Given the description of an element on the screen output the (x, y) to click on. 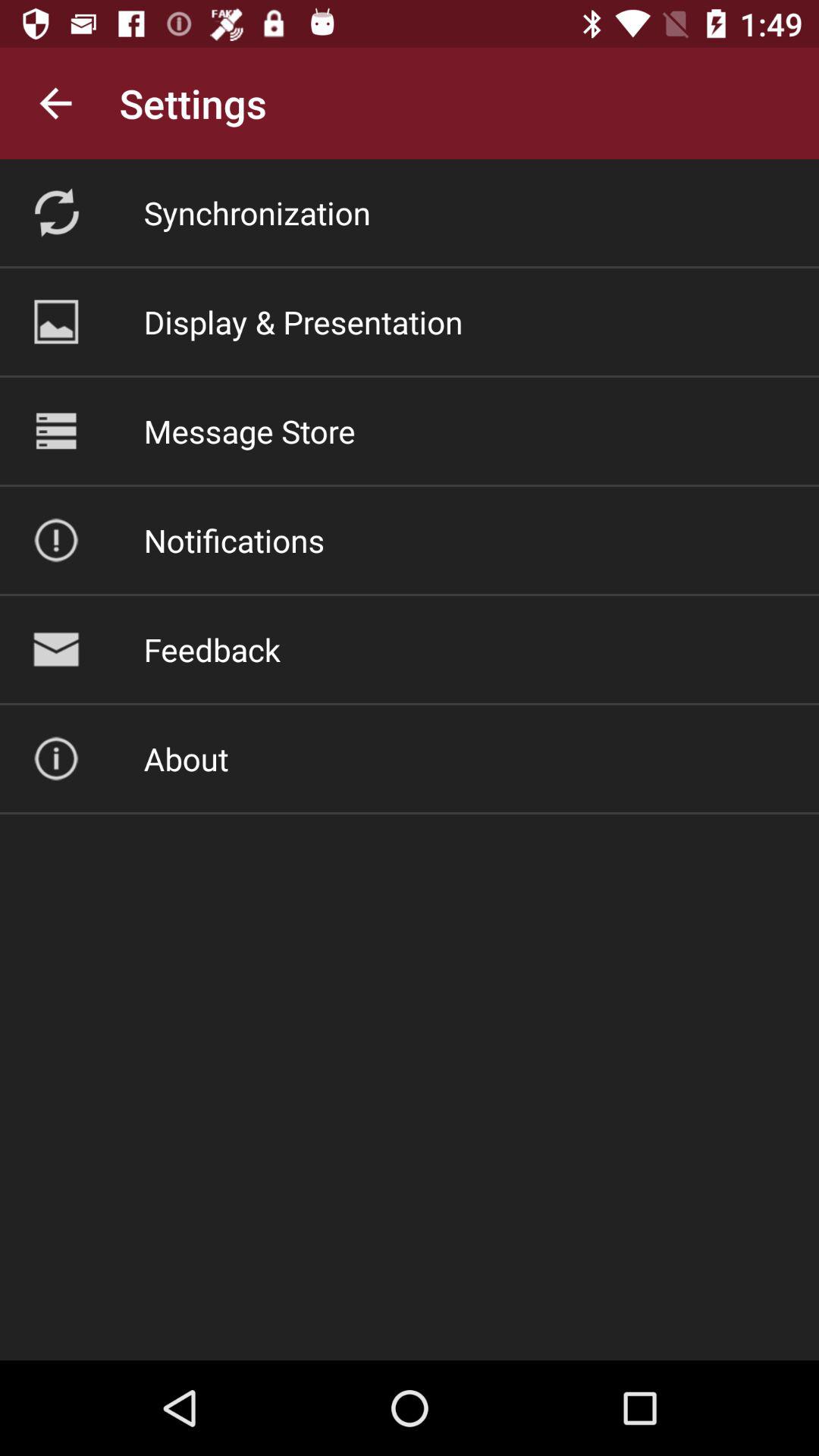
launch the feedback icon (211, 649)
